Given the description of an element on the screen output the (x, y) to click on. 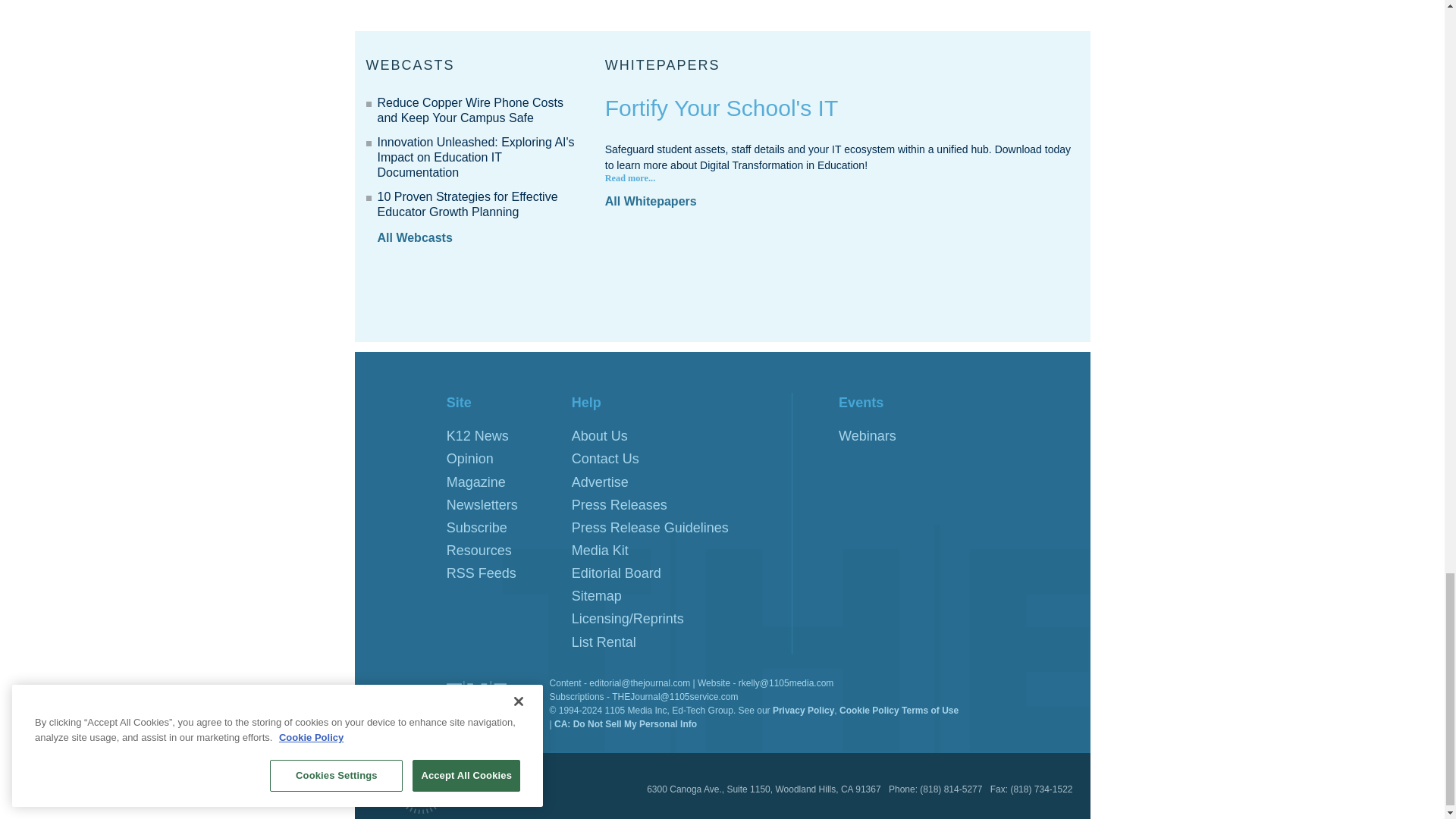
Converge360 (430, 783)
3rd party ad content (721, 292)
3rd party ad content (975, 9)
